Given the description of an element on the screen output the (x, y) to click on. 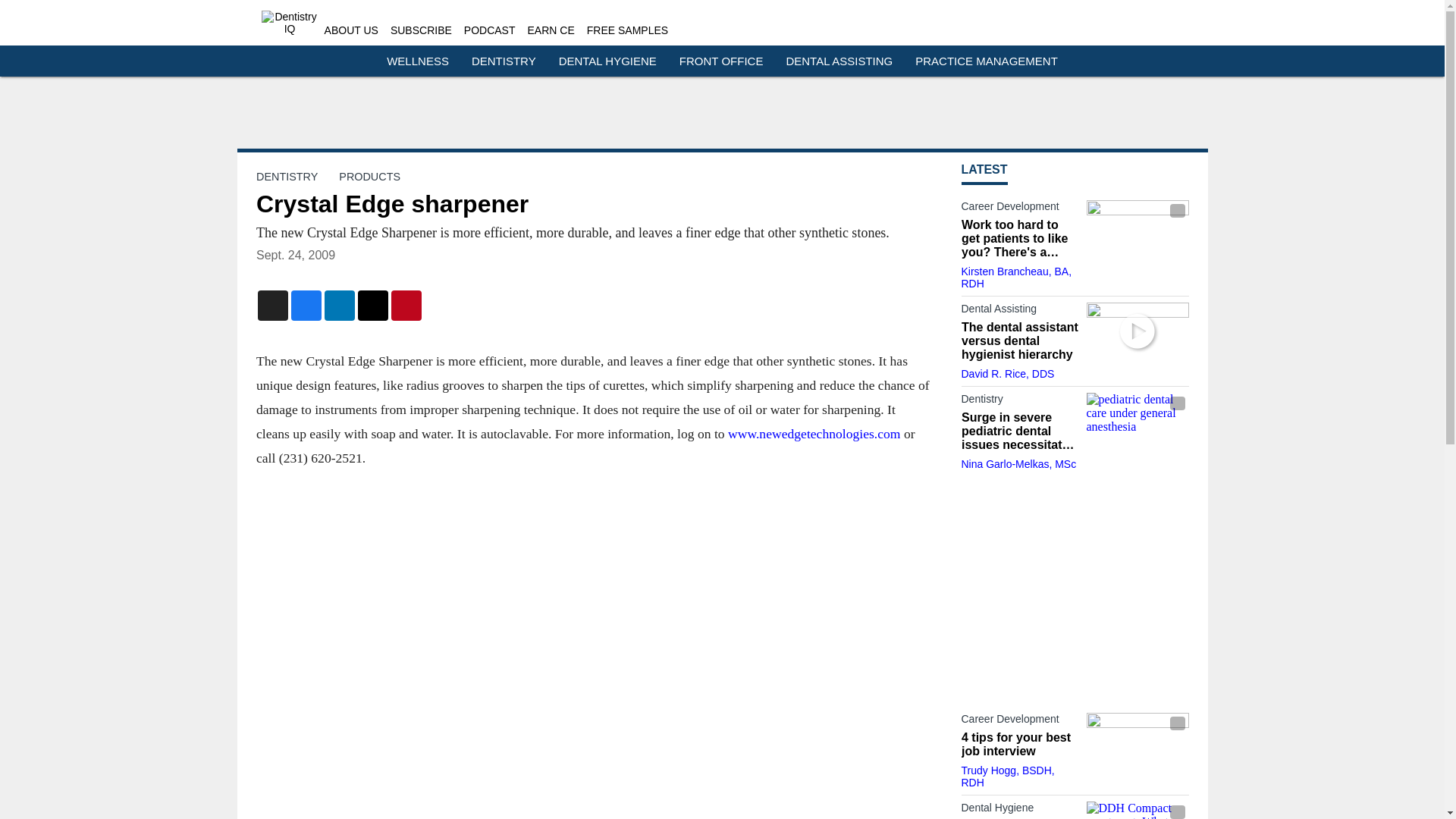
DENTISTRY (286, 176)
DENTISTRY (503, 60)
Dental Assisting (1019, 311)
PRODUCTS (369, 176)
FREE SAMPLES (627, 30)
4 tips for your best job interview (1019, 744)
Trudy Hogg, BSDH, RDH (1007, 776)
FRONT OFFICE (720, 60)
Dentistry (1019, 402)
ABOUT US (351, 30)
The dental assistant versus dental hygienist hierarchy (1019, 341)
Nina Garlo-Melkas, MSc (1018, 463)
www.newedgetechnologies.com (812, 433)
